Given the description of an element on the screen output the (x, y) to click on. 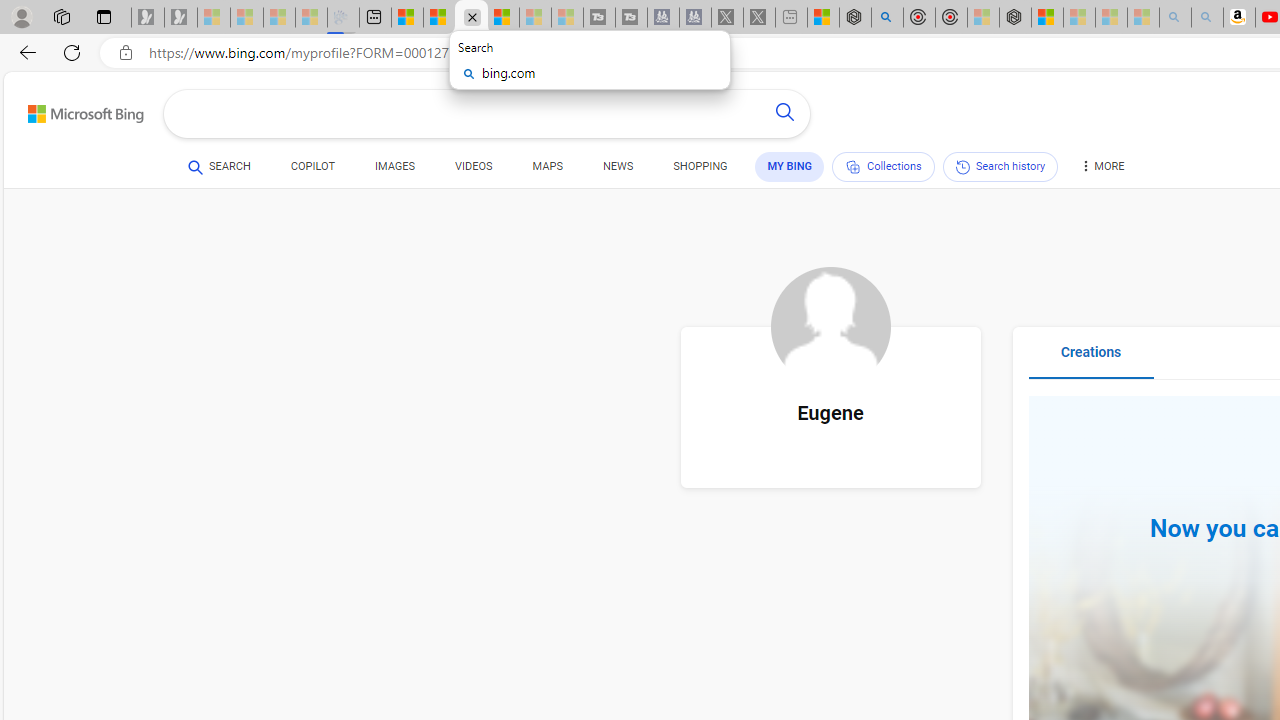
To get missing image descriptions, open the context menu. (830, 327)
COPILOT (311, 169)
amazon - Search - Sleeping (1175, 17)
Creations (1090, 360)
NEWS (618, 169)
SEARCH (219, 166)
Newsletter Sign Up - Sleeping (181, 17)
